Given the description of an element on the screen output the (x, y) to click on. 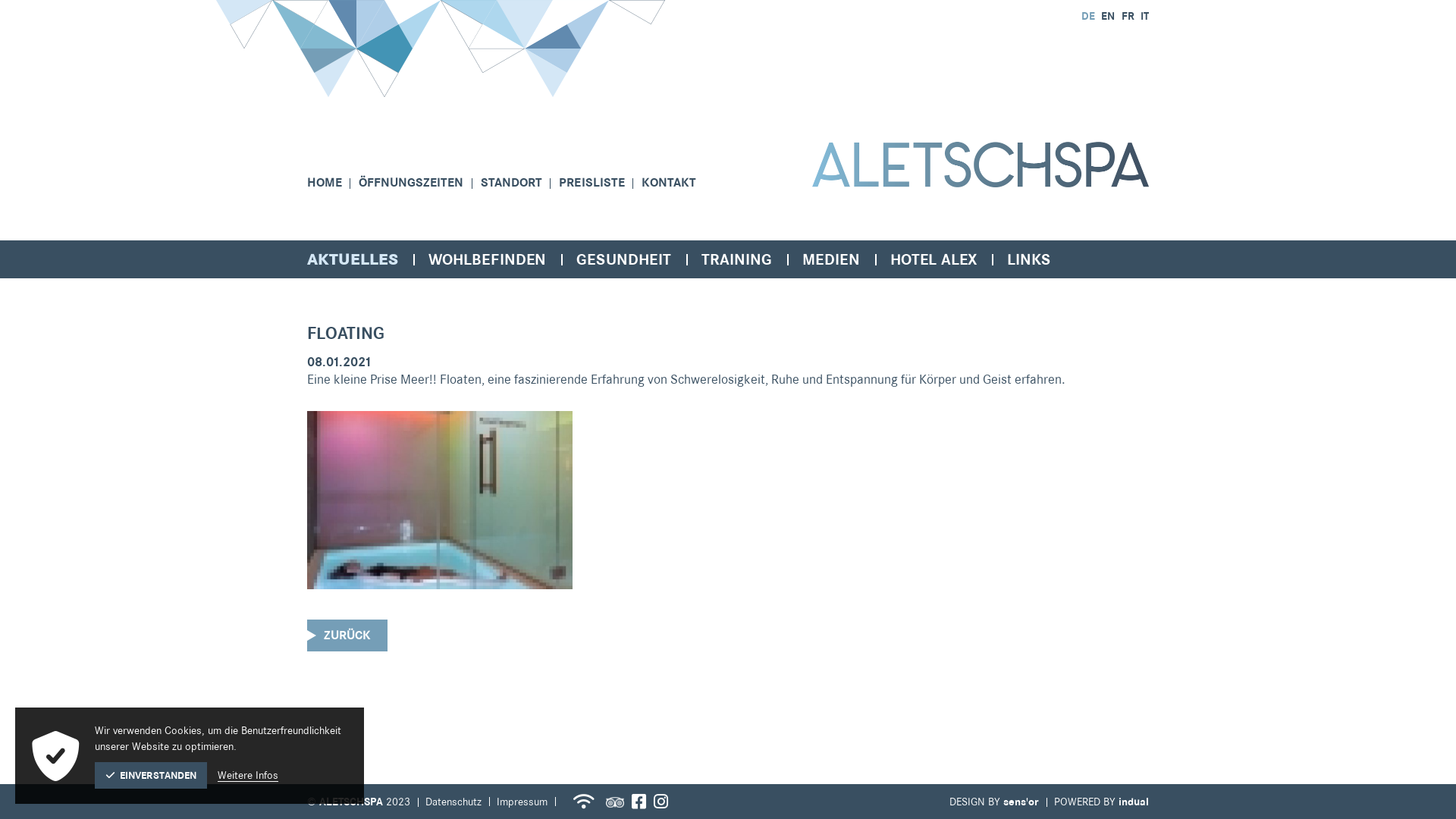
LINKS Element type: text (1028, 258)
POWERED BY indual Element type: text (1101, 801)
IT Element type: text (1143, 16)
HOTEL ALEX Element type: text (933, 258)
PREISLISTE Element type: text (599, 182)
Datenschutz Element type: text (453, 801)
MEDIEN Element type: text (830, 258)
EINVERSTANDEN Element type: text (150, 775)
Impressum Element type: text (521, 801)
HOME Element type: text (332, 182)
DESIGN BY sens'or Element type: text (993, 801)
TRAINING Element type: text (736, 258)
STANDORT Element type: text (519, 182)
GESUNDHEIT Element type: text (623, 258)
AKTUELLES Element type: text (352, 258)
WOHLBEFINDEN Element type: text (487, 258)
EN Element type: text (1106, 16)
Weitere Infos Element type: text (247, 775)
KONTAKT Element type: text (676, 182)
DE Element type: text (1088, 16)
FR Element type: text (1125, 16)
